Given the description of an element on the screen output the (x, y) to click on. 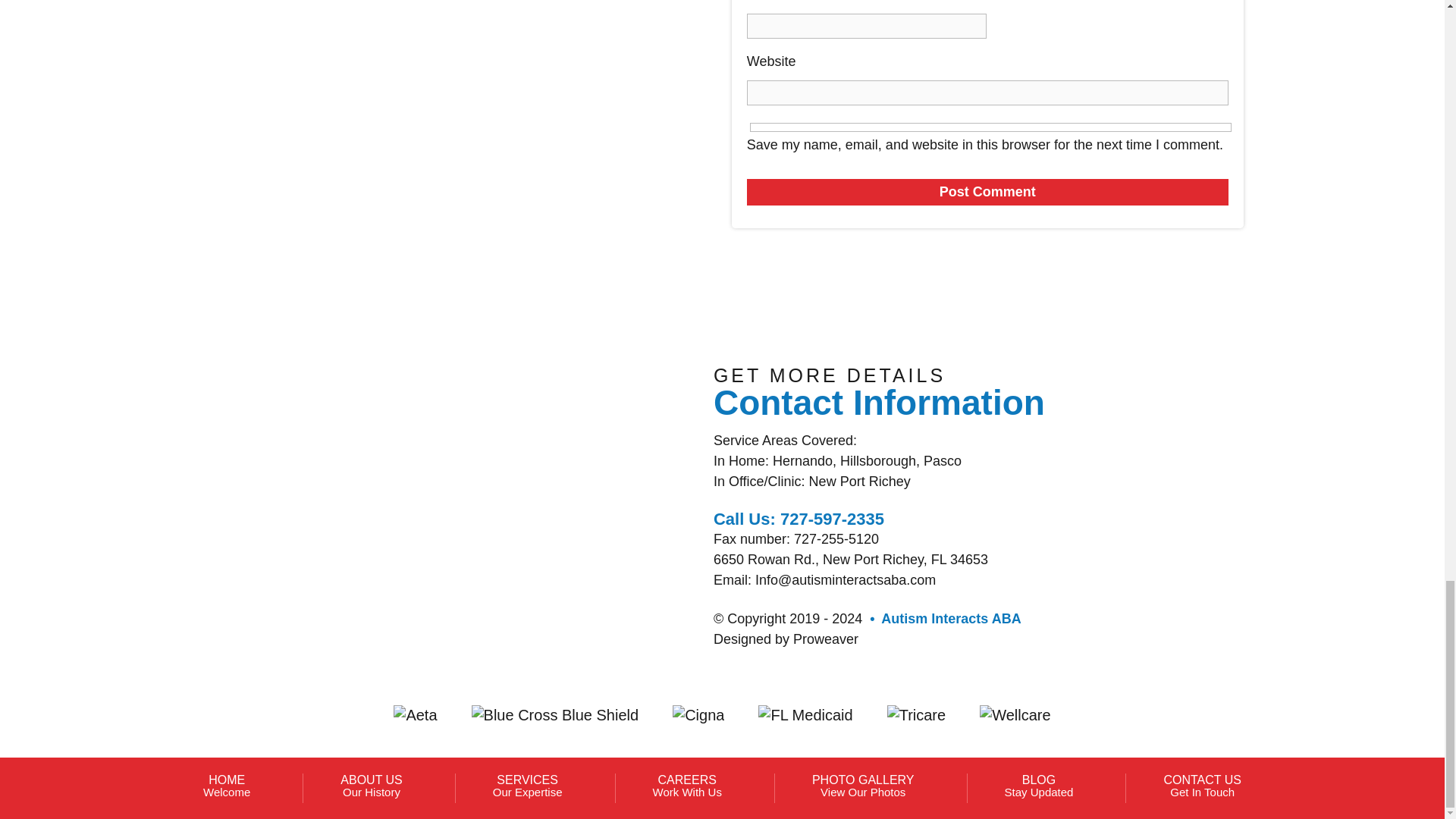
yes (527, 785)
Proweaver (990, 126)
Post Comment (826, 639)
Post Comment (987, 192)
